Given the description of an element on the screen output the (x, y) to click on. 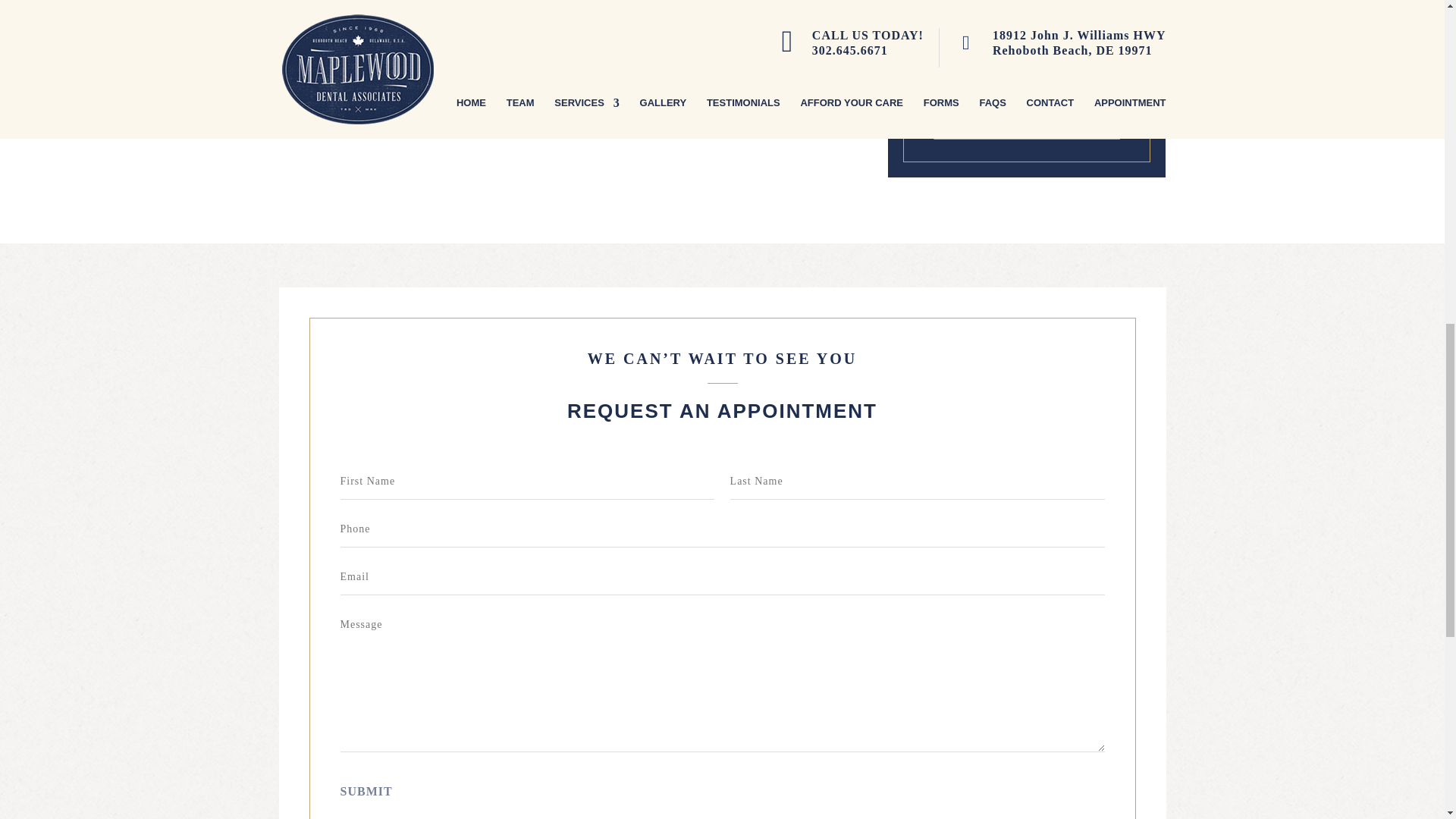
Submit (365, 791)
